Given the description of an element on the screen output the (x, y) to click on. 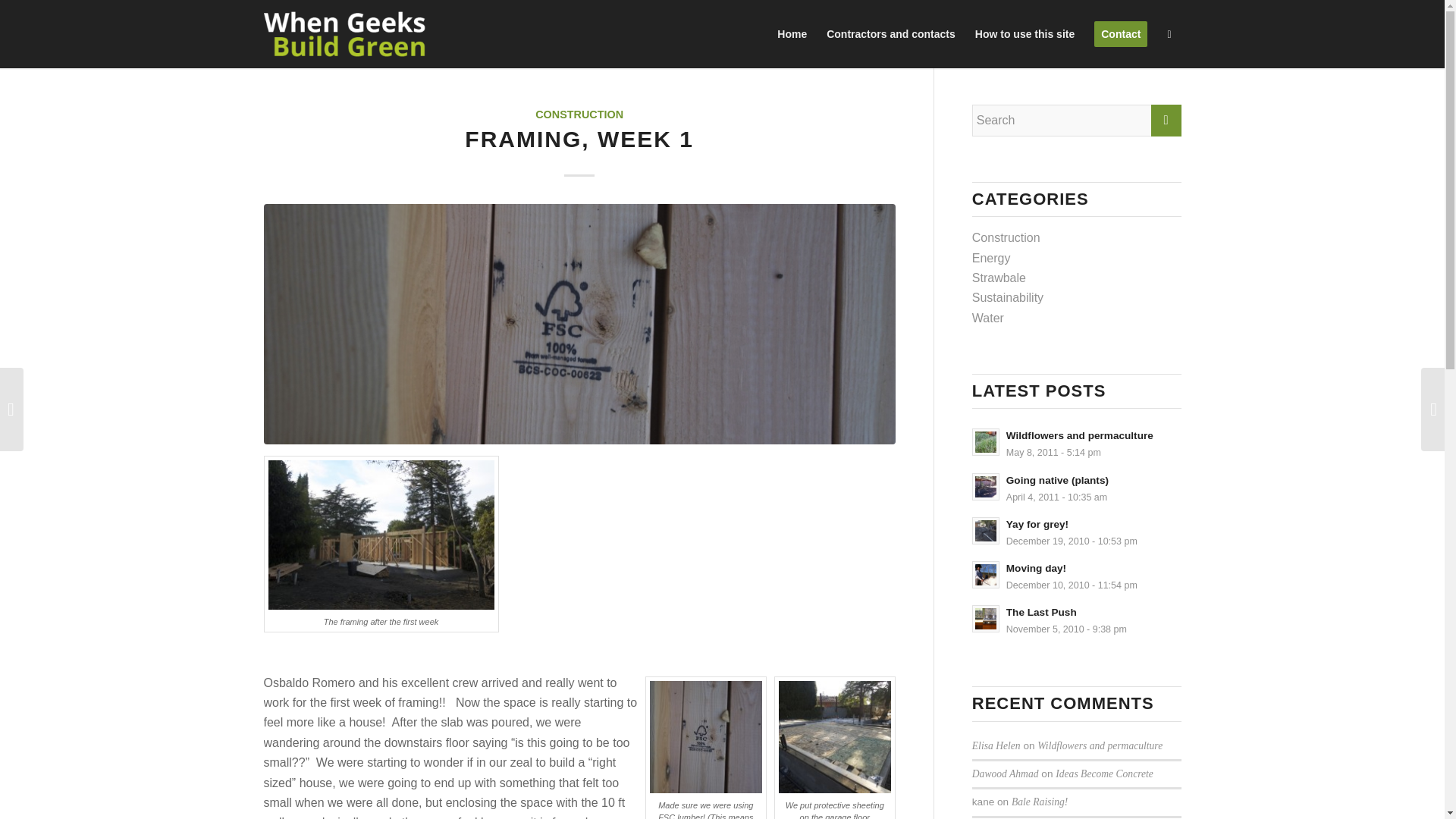
Wildflowers and permaculture (1076, 443)
CONSTRUCTION (579, 114)
Wildflowers and permaculture (1098, 745)
Contractors and contacts (1076, 619)
Yay for grey! (890, 33)
How to use this site (1076, 532)
fw1-3 (1024, 33)
Strawbale (1076, 532)
Water (1076, 575)
Sustainability (1076, 443)
